Given the description of an element on the screen output the (x, y) to click on. 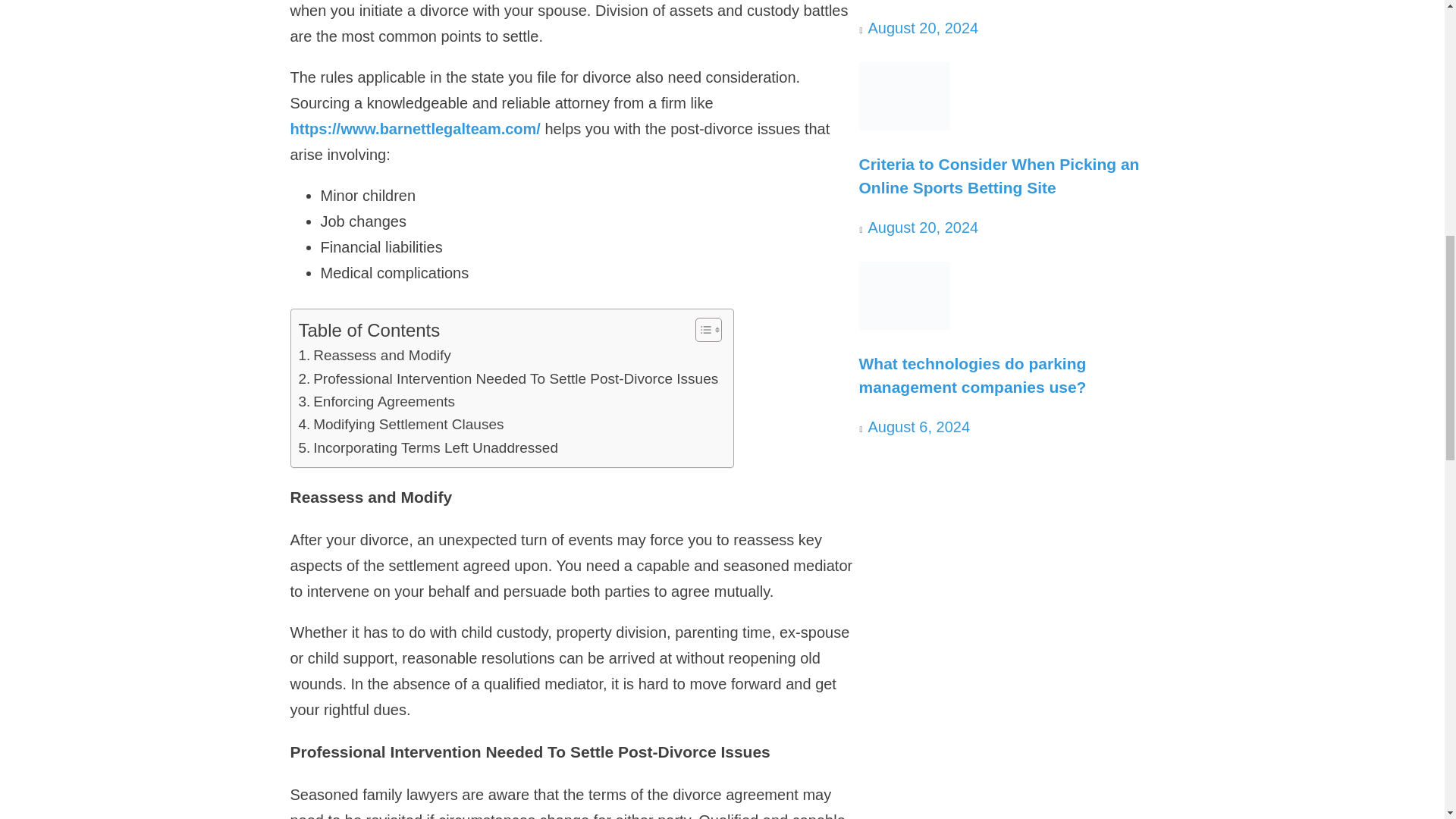
Modifying Settlement Clauses (400, 424)
Modifying Settlement Clauses (400, 424)
Enforcing Agreements   (380, 401)
Reassess and Modify (374, 354)
Incorporating Terms Left Unaddressed  (430, 447)
